Given the description of an element on the screen output the (x, y) to click on. 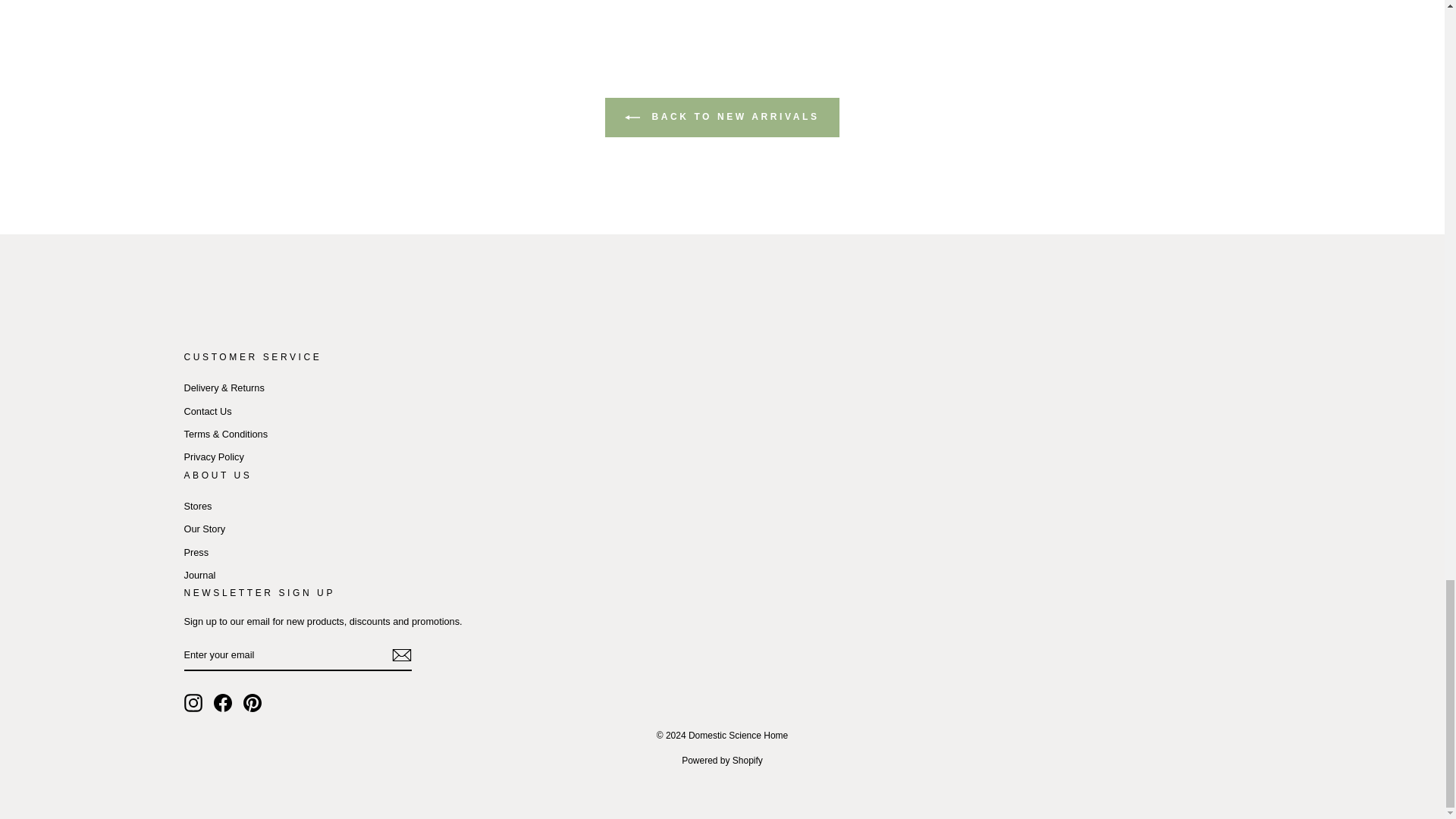
Domestic Science Home on Instagram (192, 702)
Domestic Science Home on Facebook (222, 702)
Domestic Science Home on Pinterest (251, 702)
